Given the description of an element on the screen output the (x, y) to click on. 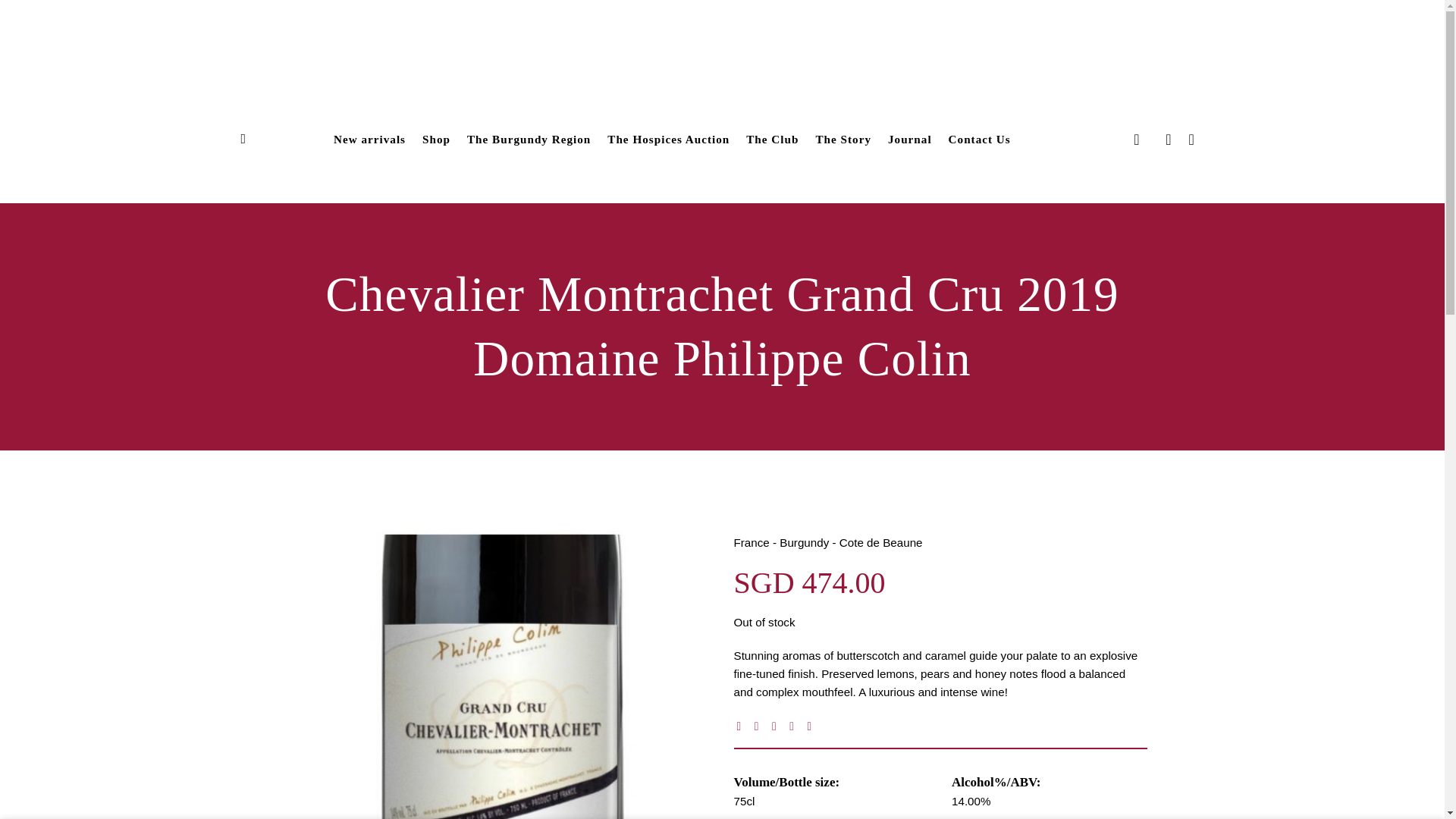
Email to a Friend (777, 725)
Share on LinkedIn (812, 725)
The Club (771, 139)
Shop (435, 139)
Share on Facebook (742, 725)
Pin on Pinterest (795, 725)
The Hospices Auction (668, 139)
Contact Us (979, 139)
New arrivals (369, 139)
Journal (909, 139)
